Given the description of an element on the screen output the (x, y) to click on. 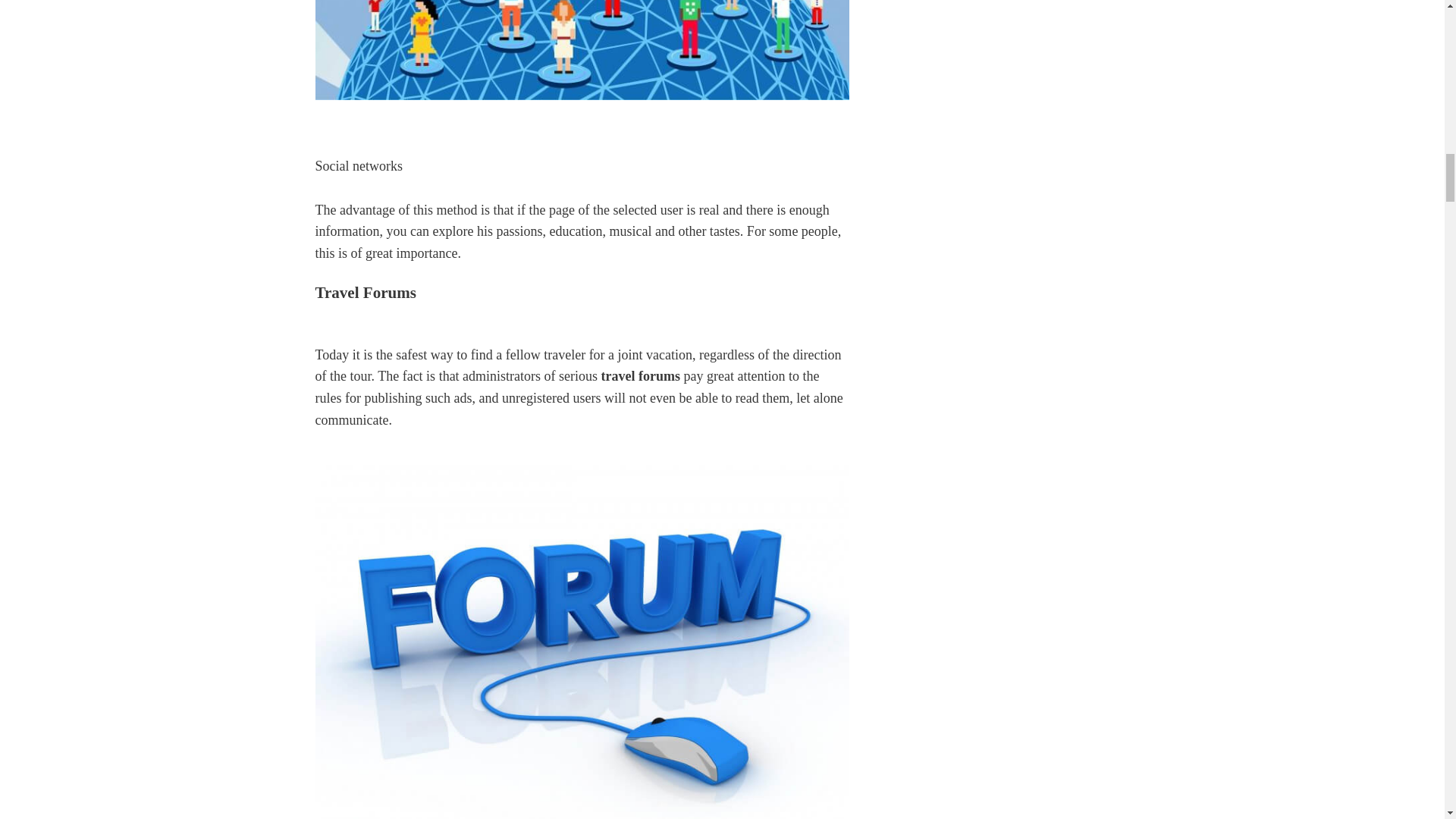
Social networks (581, 49)
